Given the description of an element on the screen output the (x, y) to click on. 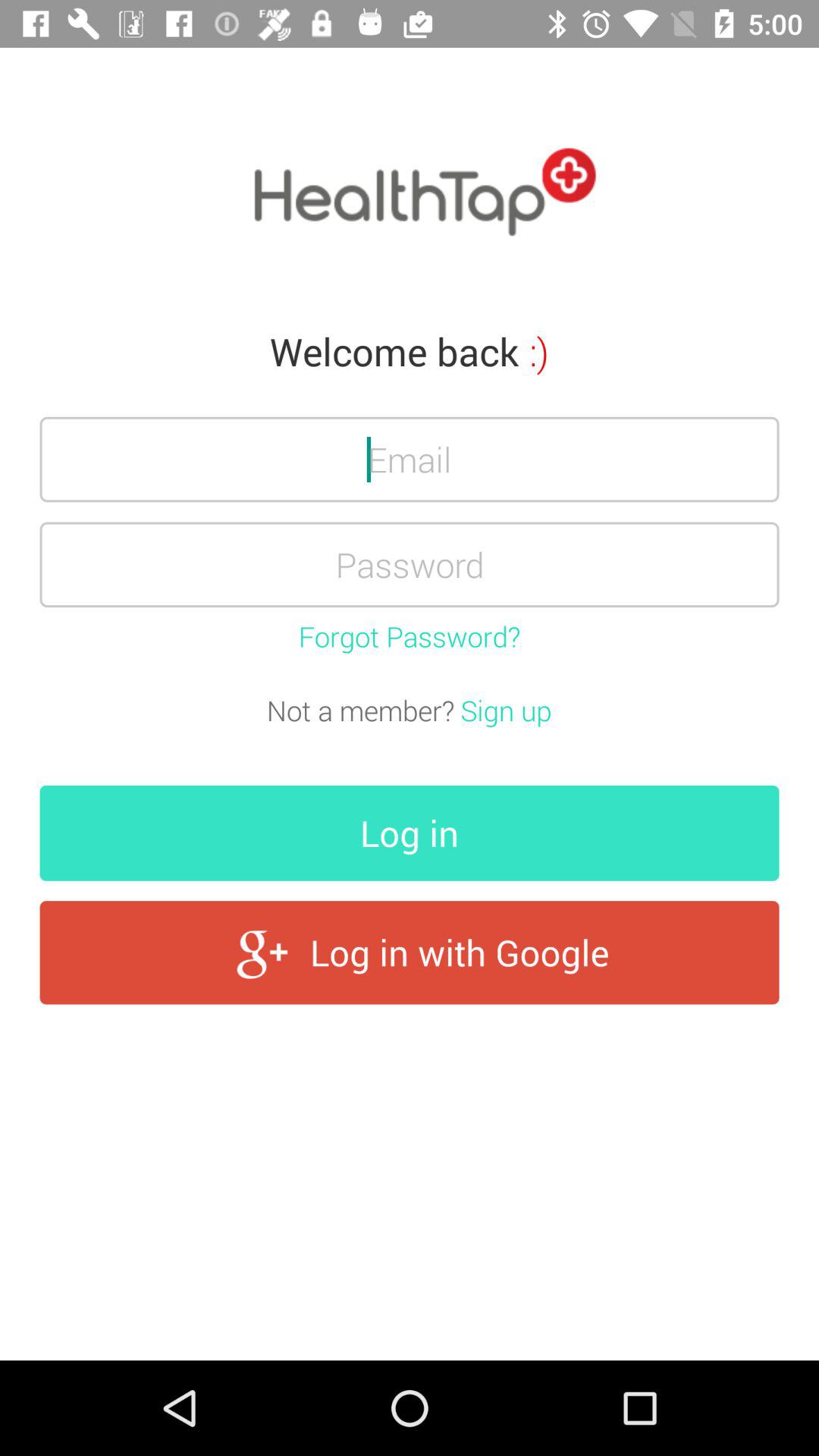
enter email (409, 459)
